Given the description of an element on the screen output the (x, y) to click on. 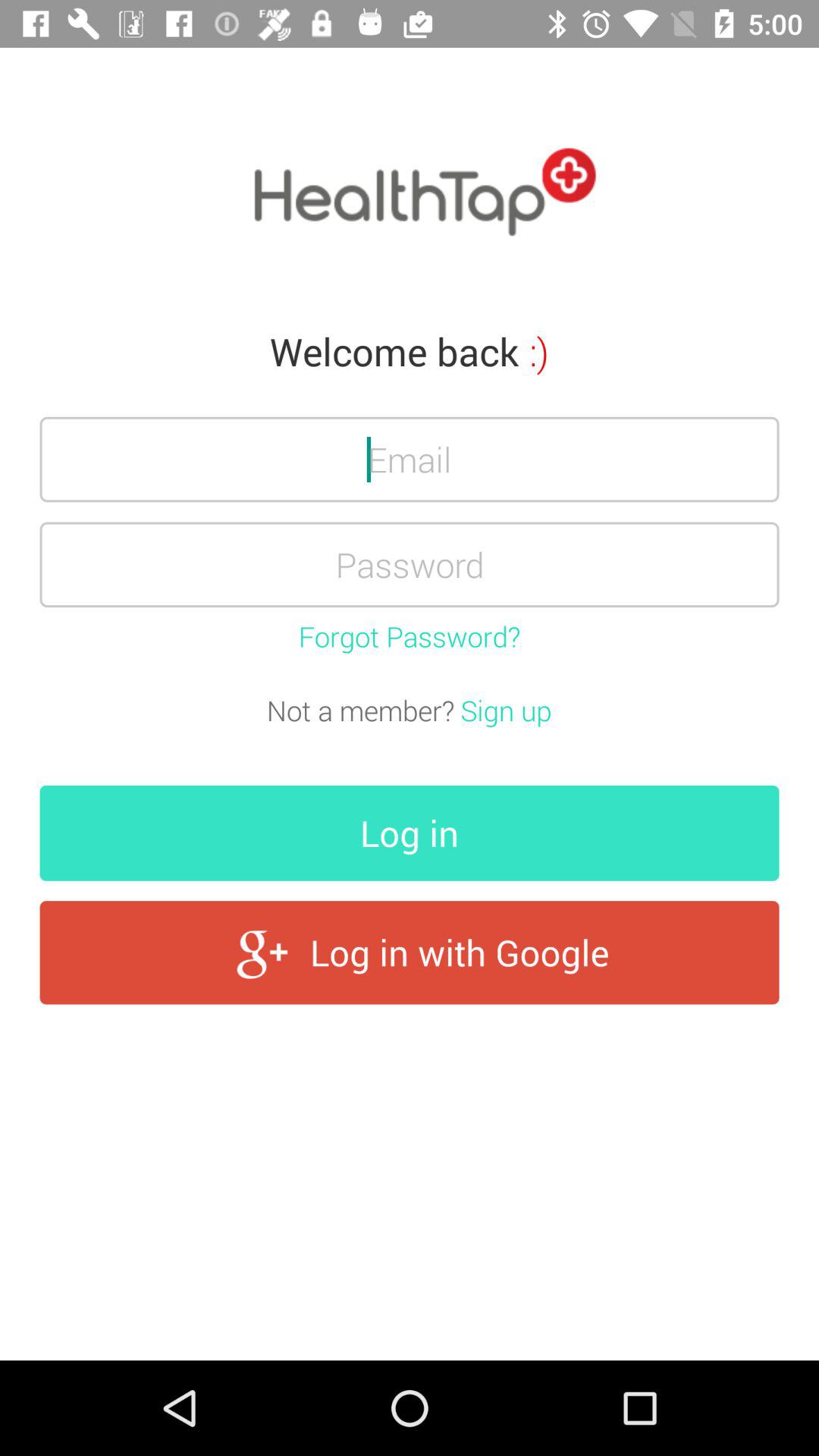
enter email (409, 459)
